Given the description of an element on the screen output the (x, y) to click on. 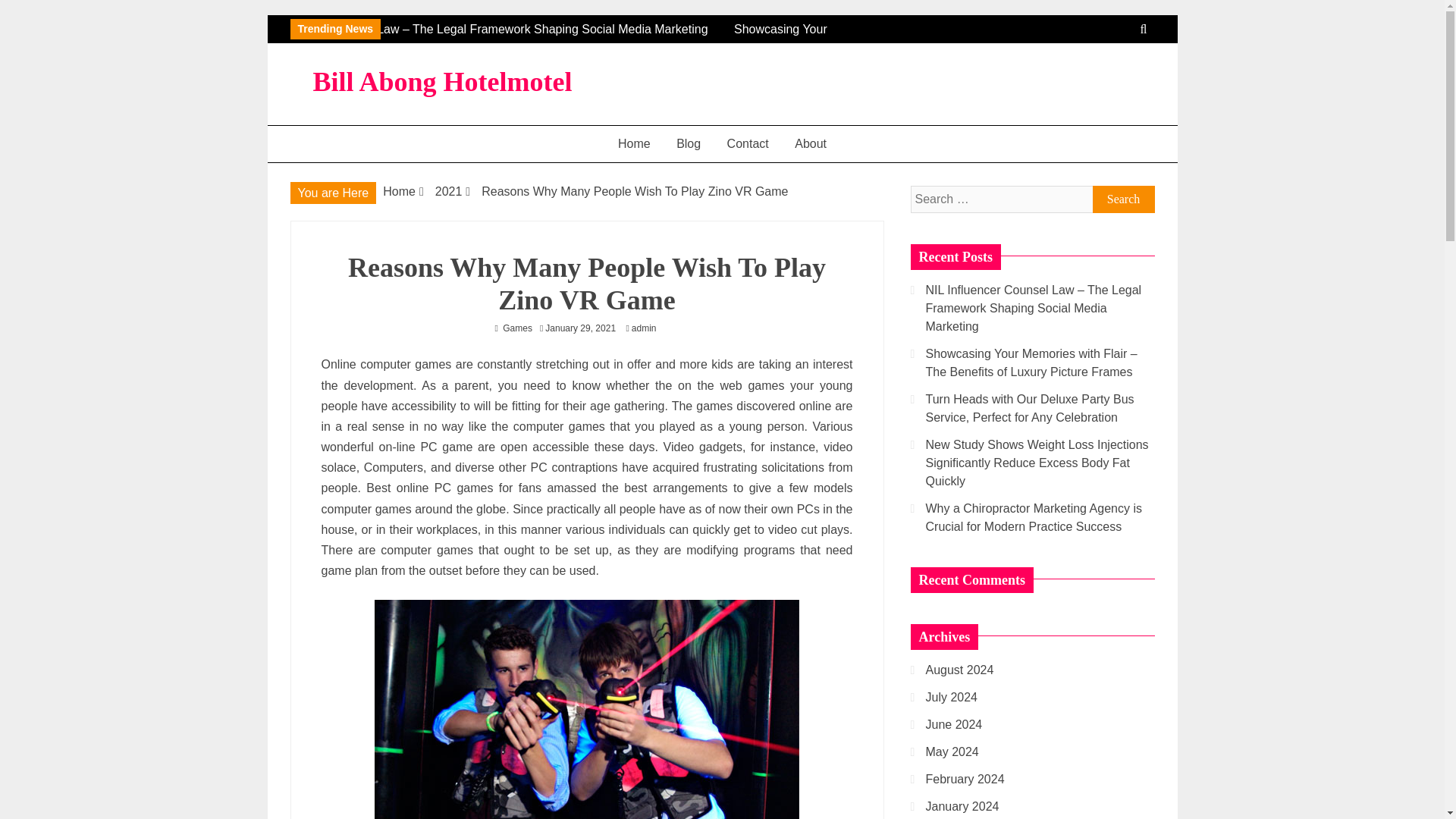
admin (647, 327)
Search (1123, 198)
Bill Abong Hotelmotel (442, 81)
About (810, 143)
Home (398, 191)
Search (1123, 198)
Home (634, 143)
Blog (688, 143)
January 29, 2021 (579, 327)
